Given the description of an element on the screen output the (x, y) to click on. 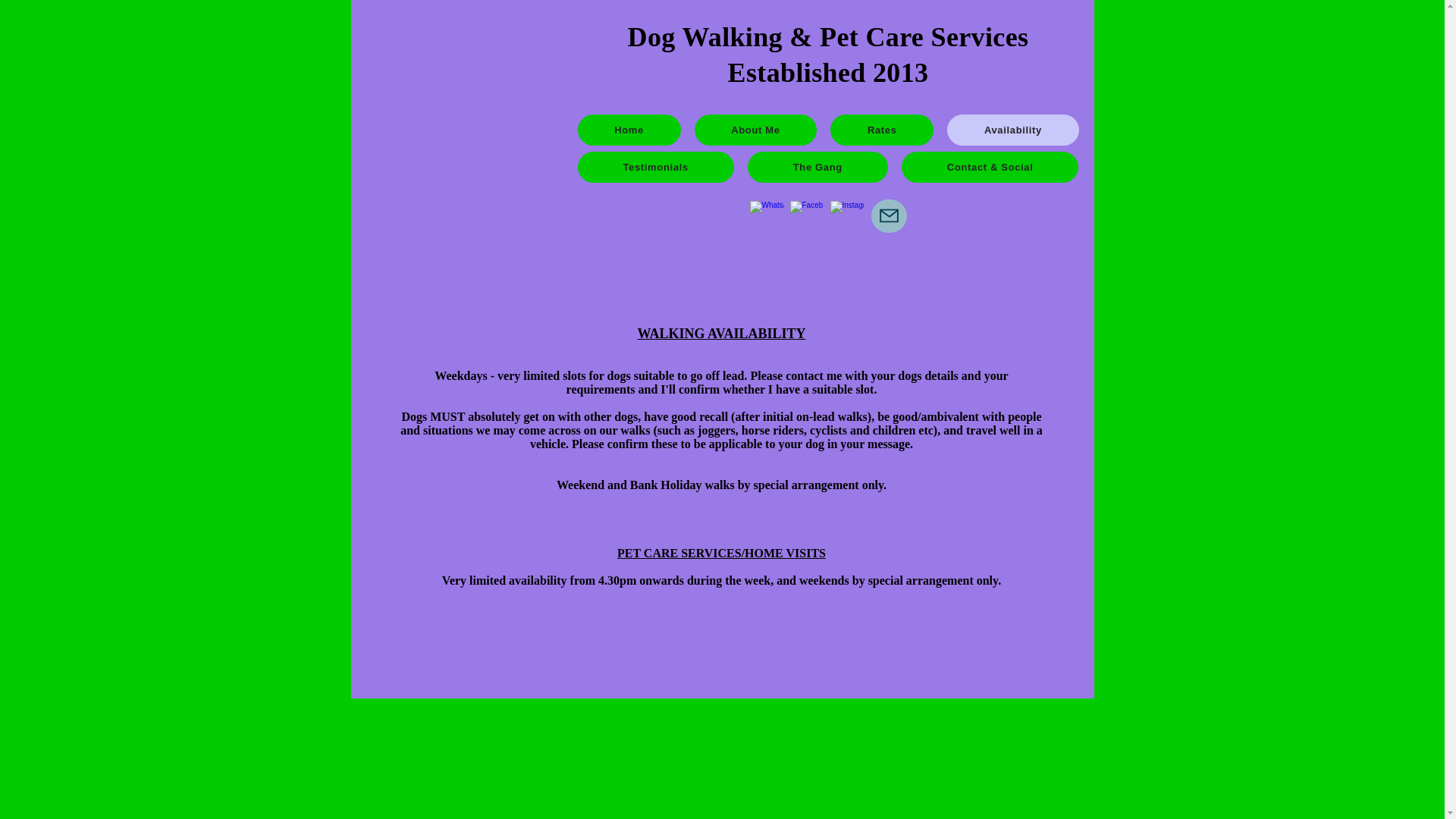
Rates (881, 129)
About Me (755, 129)
The Gang (818, 166)
Testimonials (655, 166)
Home (629, 129)
Availability (1012, 129)
